Given the description of an element on the screen output the (x, y) to click on. 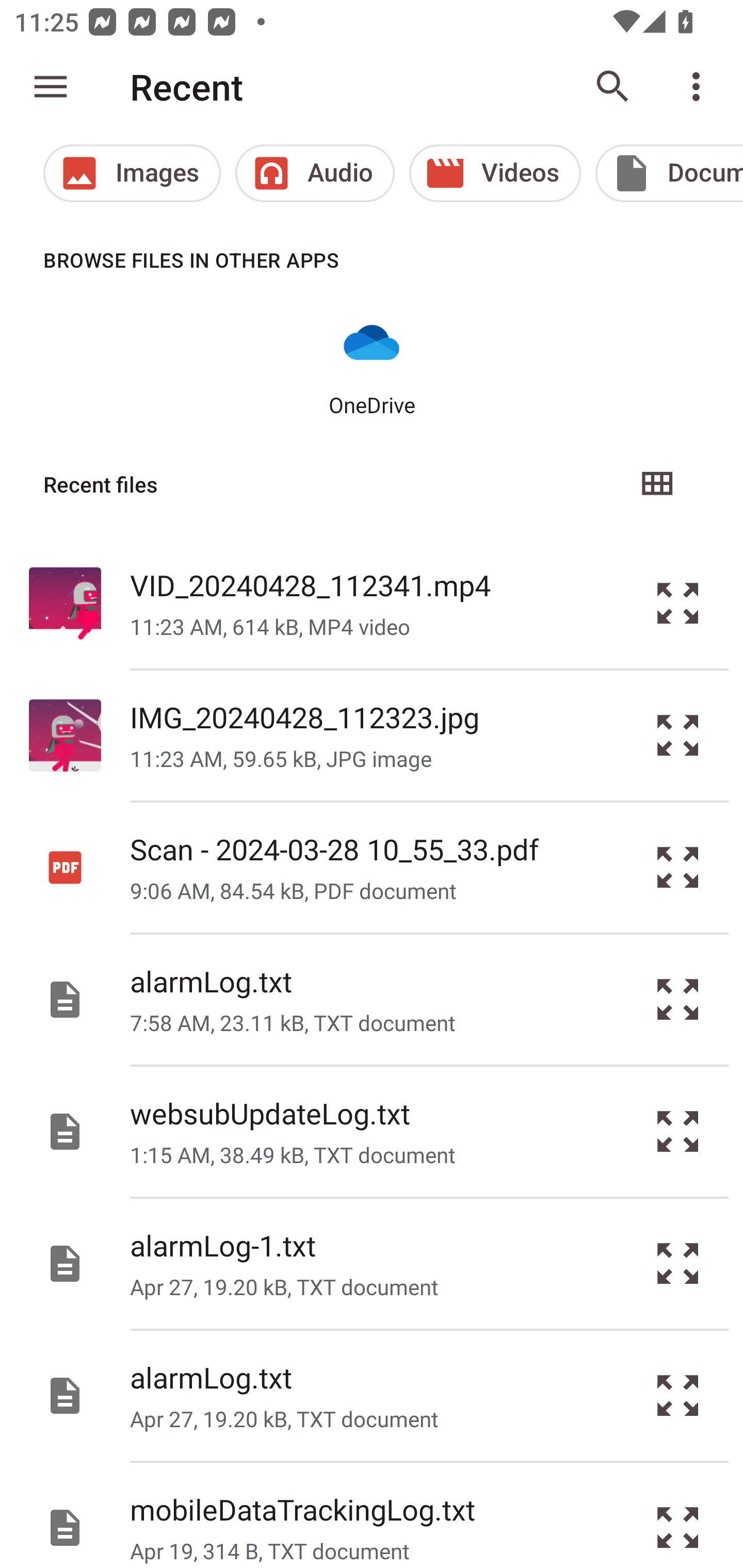
Show roots (50, 86)
Search (612, 86)
More options (699, 86)
Images (131, 173)
Audio (314, 173)
Videos (495, 173)
Documents (669, 173)
OneDrive (371, 365)
Grid view (655, 484)
Preview the file VID_20240428_112341.mp4 (677, 602)
Preview the file IMG_20240428_112323.jpg (677, 736)
Preview the file Scan - 2024-03-28 10_55_33.pdf (677, 867)
Preview the file alarmLog.txt (677, 999)
Preview the file websubUpdateLog.txt (677, 1131)
Preview the file alarmLog-1.txt (677, 1262)
Preview the file alarmLog.txt (677, 1396)
Preview the file mobileDataTrackingLog.txt (677, 1515)
